Given the description of an element on the screen output the (x, y) to click on. 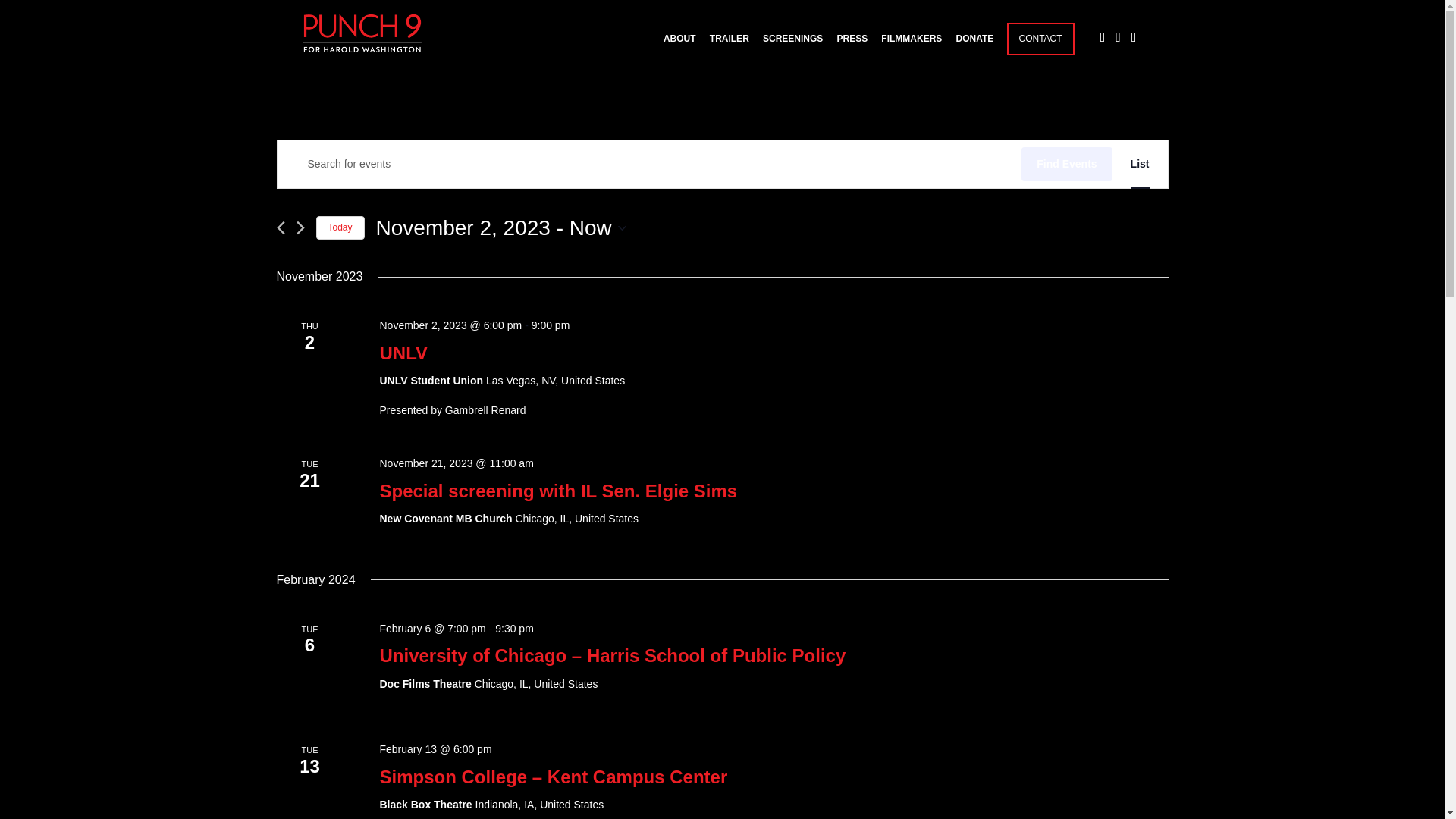
Click to select today's date (339, 227)
Special screening with IL Sen. Elgie Sims (557, 491)
UNLV (403, 353)
ABOUT (679, 49)
FILMMAKERS (911, 49)
Today (339, 227)
DONATE (975, 49)
SCREENINGS (792, 49)
CONTACT (1039, 49)
PRESS (852, 49)
